Given the description of an element on the screen output the (x, y) to click on. 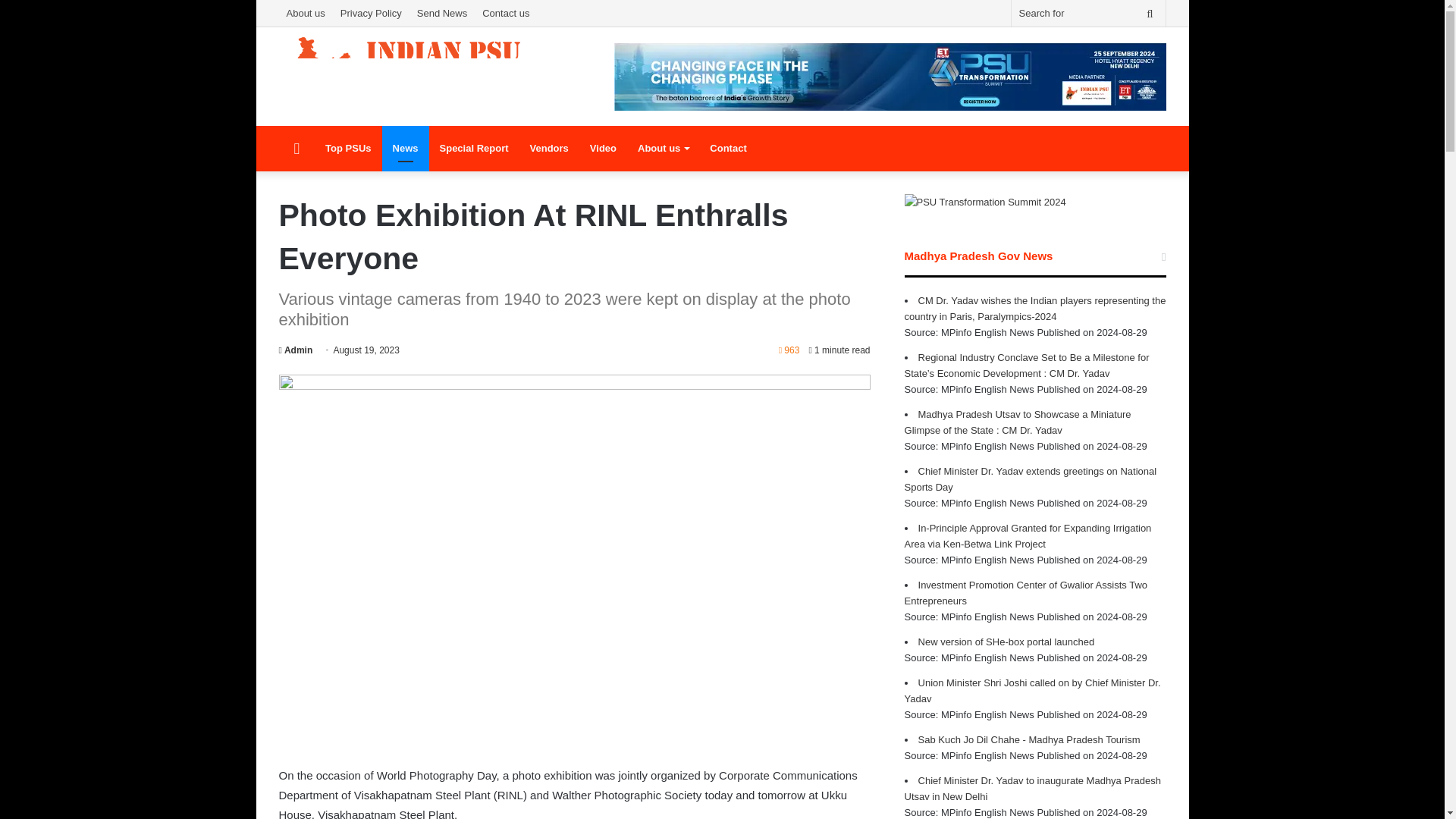
About us (662, 148)
Admin (296, 349)
Contact (727, 148)
News (405, 148)
Send News (441, 13)
Search for (1150, 13)
Search for (1088, 13)
About us (306, 13)
Special Report (474, 148)
Contact us (505, 13)
